Given the description of an element on the screen output the (x, y) to click on. 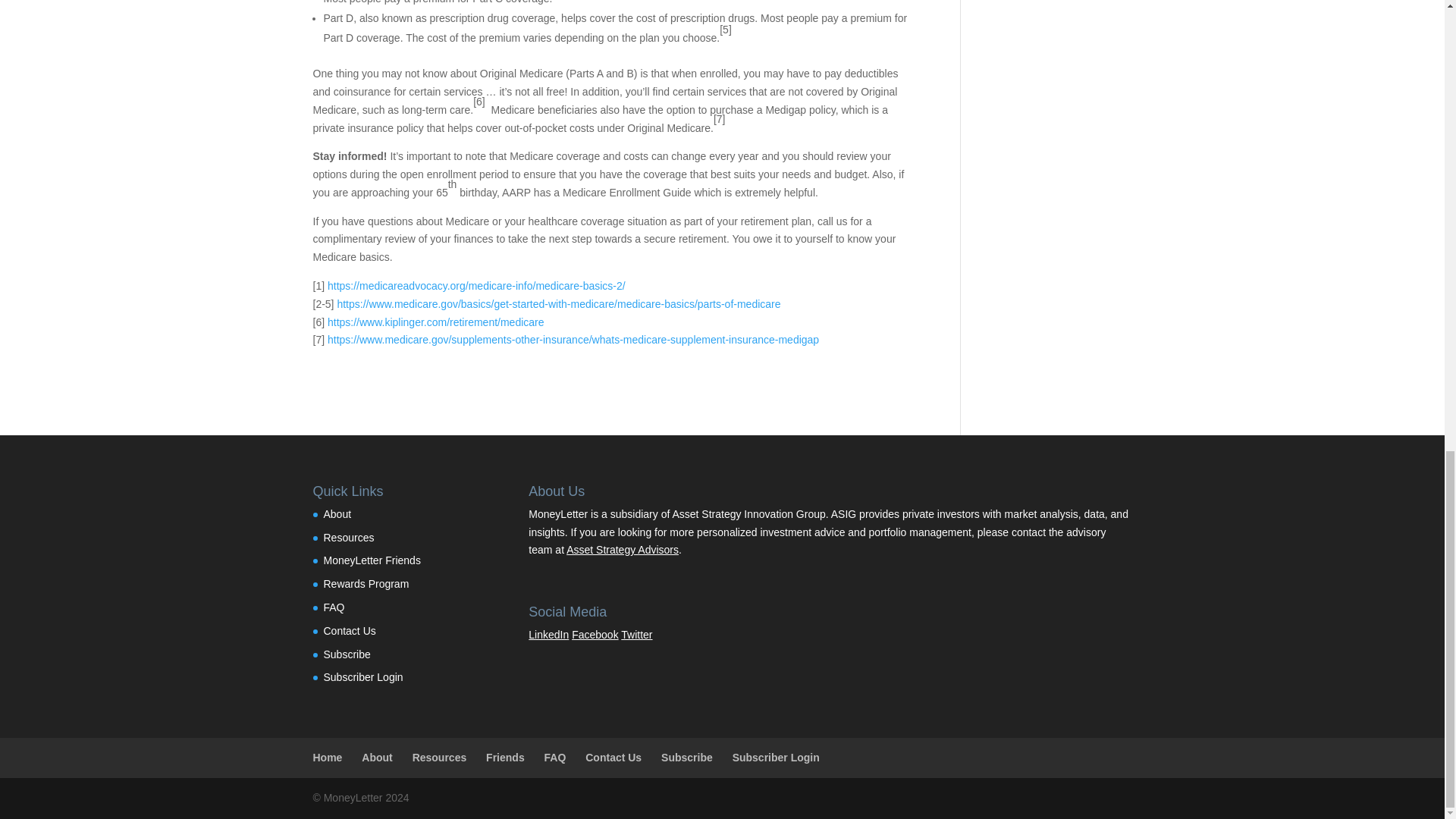
About (336, 513)
Contact Us (349, 630)
Subscriber Login (363, 676)
Rewards Program (366, 583)
Resources (348, 537)
FAQ (333, 607)
MoneyLetter Friends (371, 560)
Subscribe (346, 654)
